Given the description of an element on the screen output the (x, y) to click on. 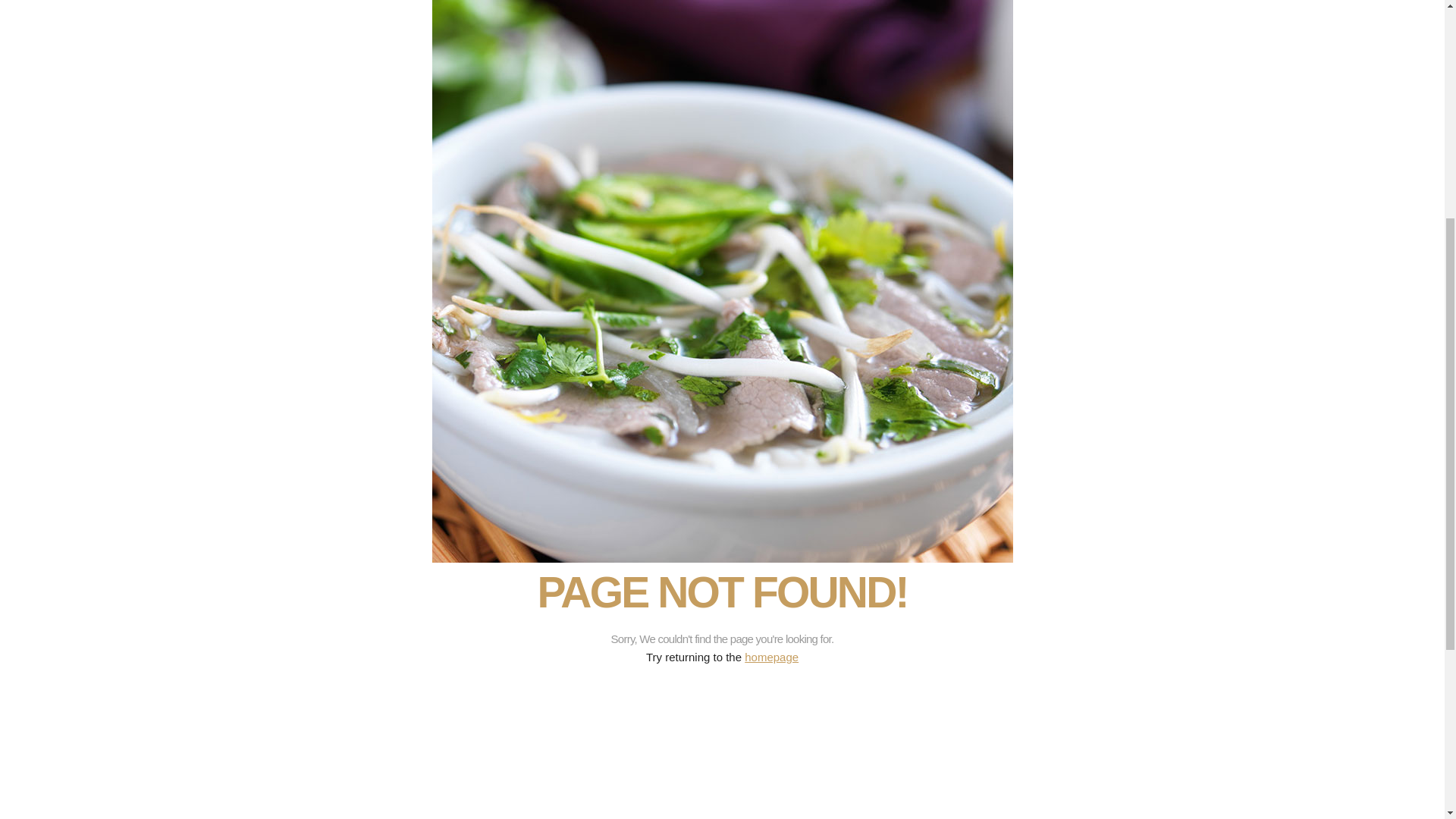
View Menu (998, 265)
Home (758, 246)
Order Takeout (1005, 246)
Contact (762, 284)
Can Ngay (1140, 394)
Directions (995, 284)
homepage (770, 656)
Menu (757, 265)
